Given the description of an element on the screen output the (x, y) to click on. 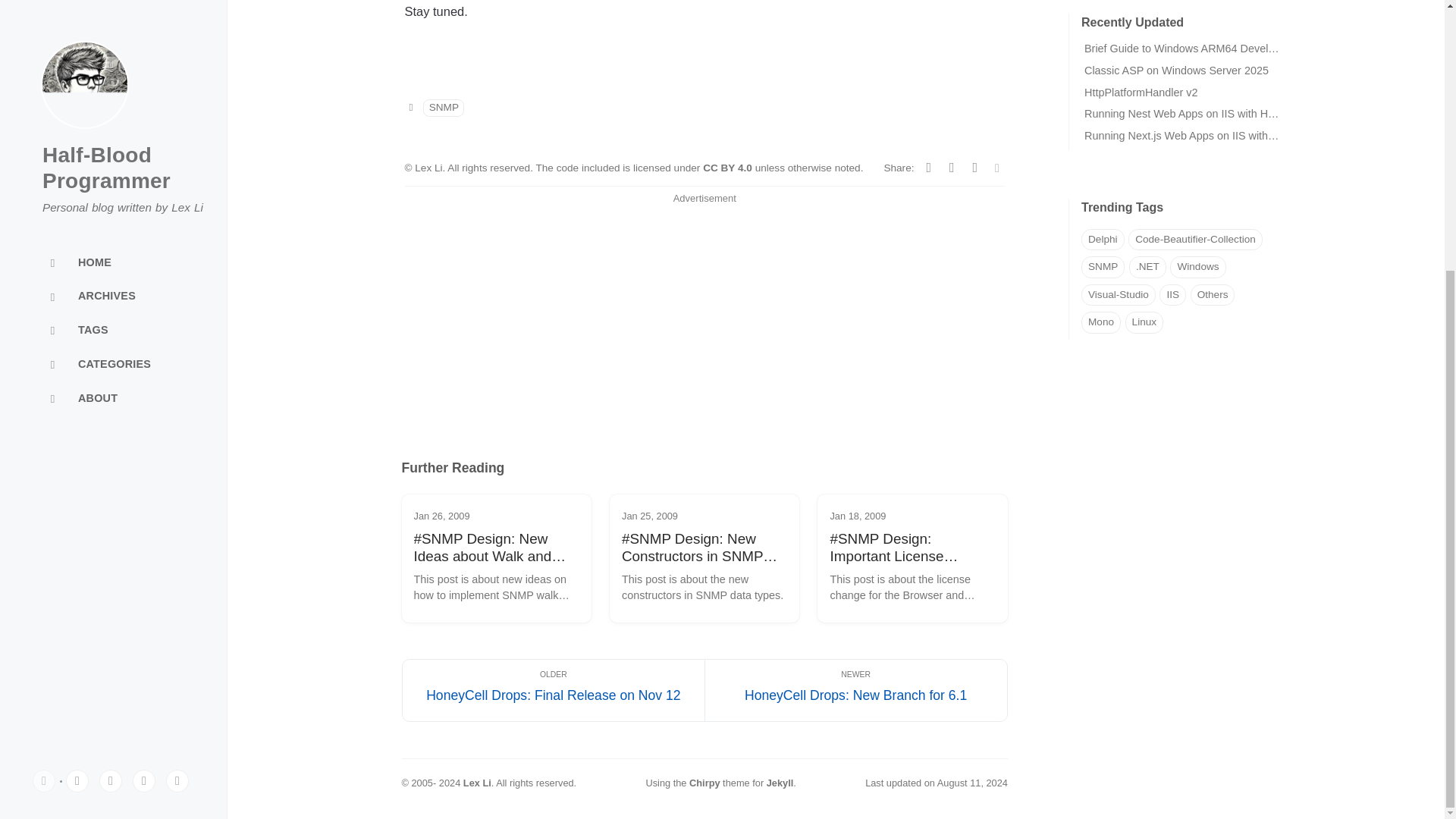
CC BY 4.0 (729, 167)
SNMP (443, 108)
ABOUT (113, 9)
